Given the description of an element on the screen output the (x, y) to click on. 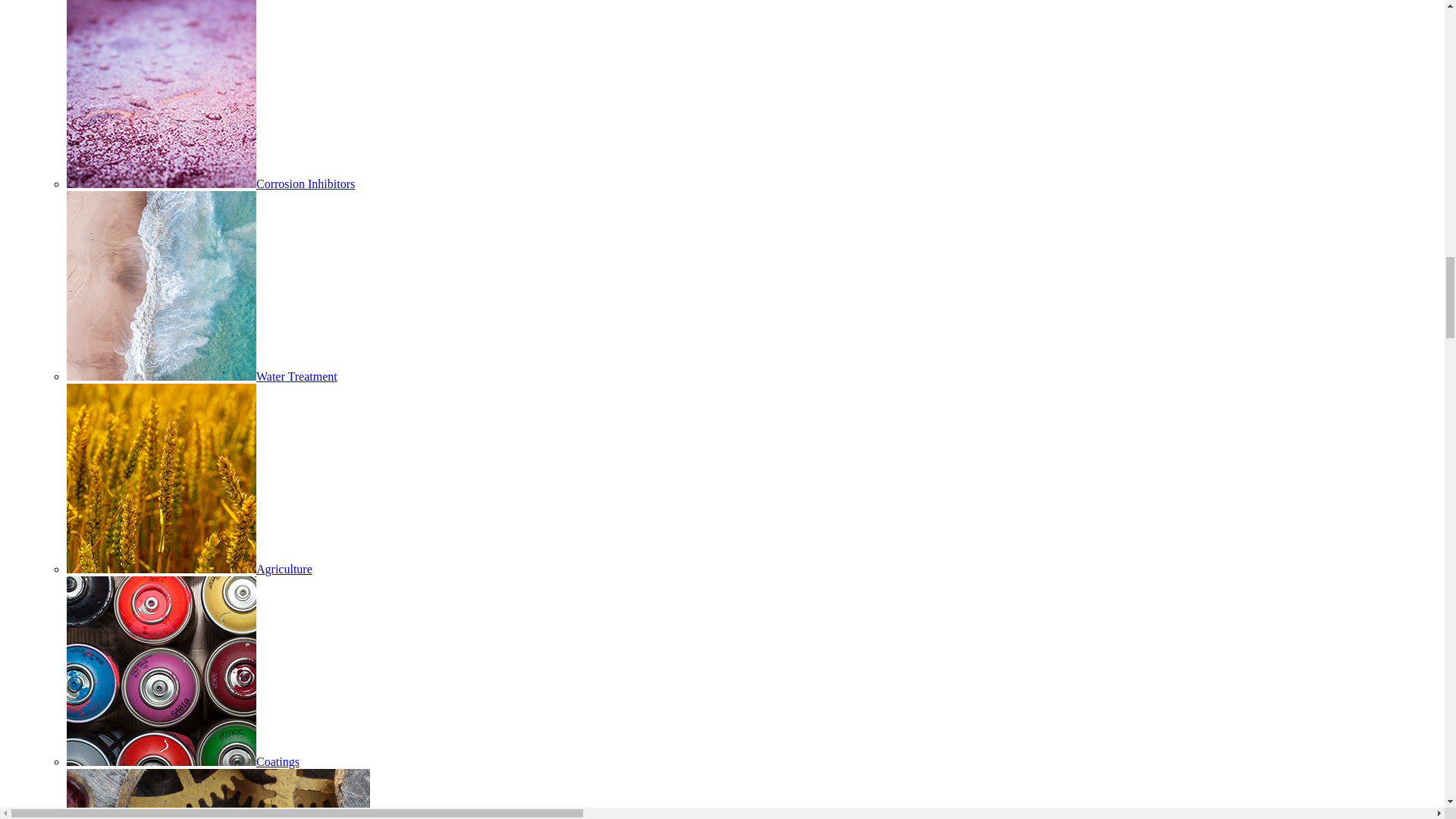
Agriculture (189, 568)
Coatings (182, 761)
Corrosion Inhibitors (210, 183)
Water Treatment (201, 376)
